Given the description of an element on the screen output the (x, y) to click on. 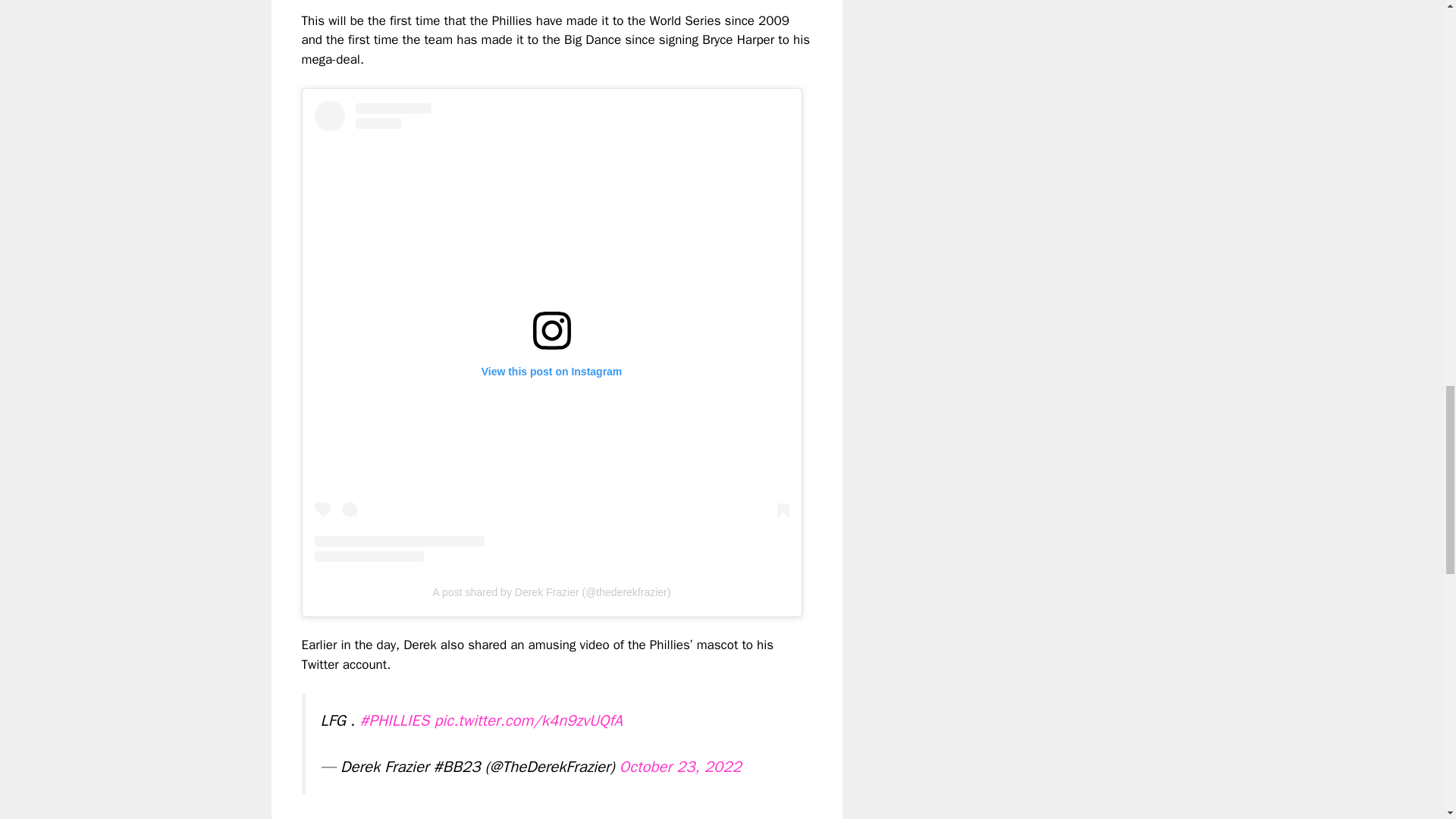
October 23, 2022 (680, 766)
